Given the description of an element on the screen output the (x, y) to click on. 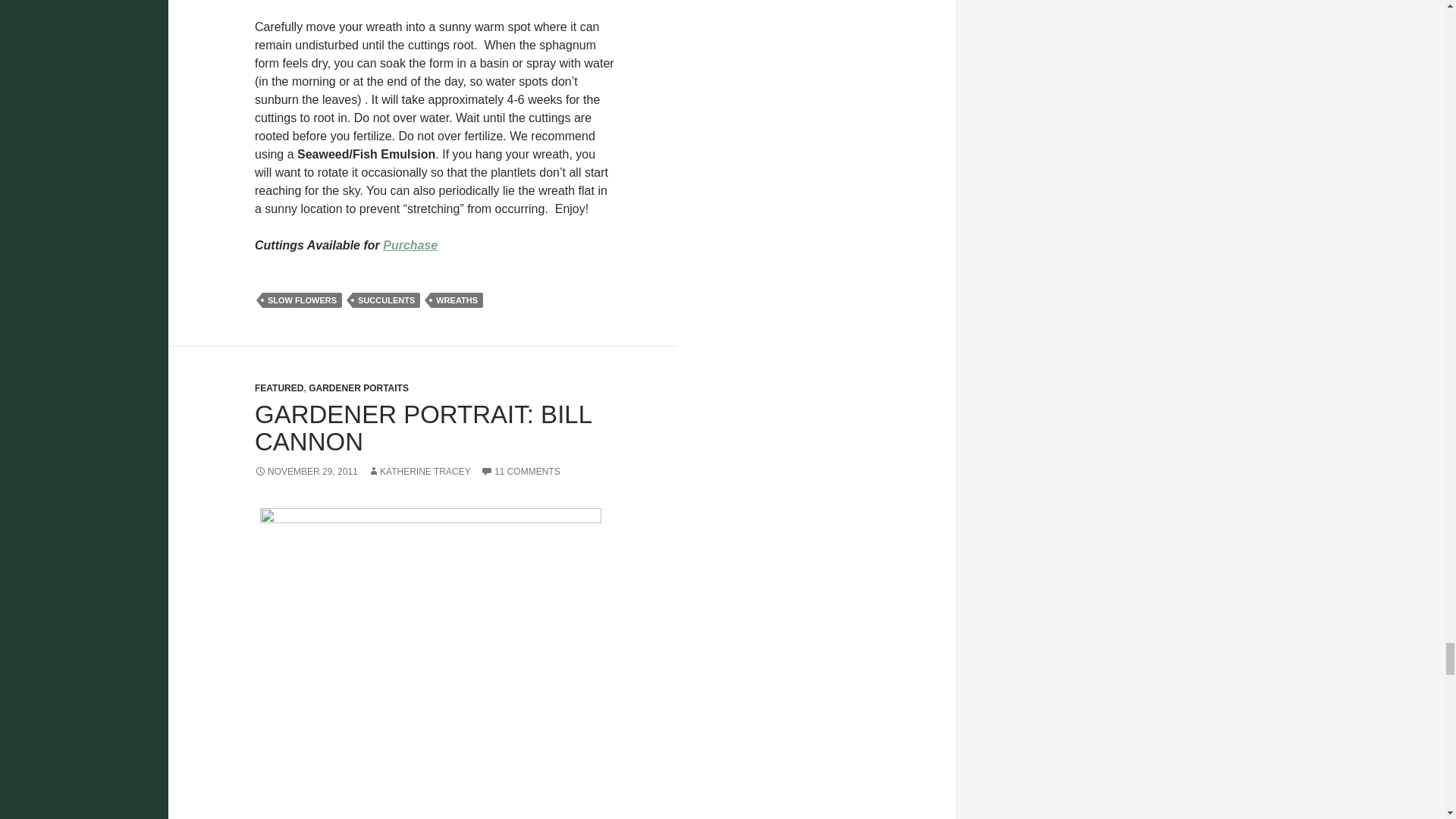
Bill Cannon (430, 663)
